Given the description of an element on the screen output the (x, y) to click on. 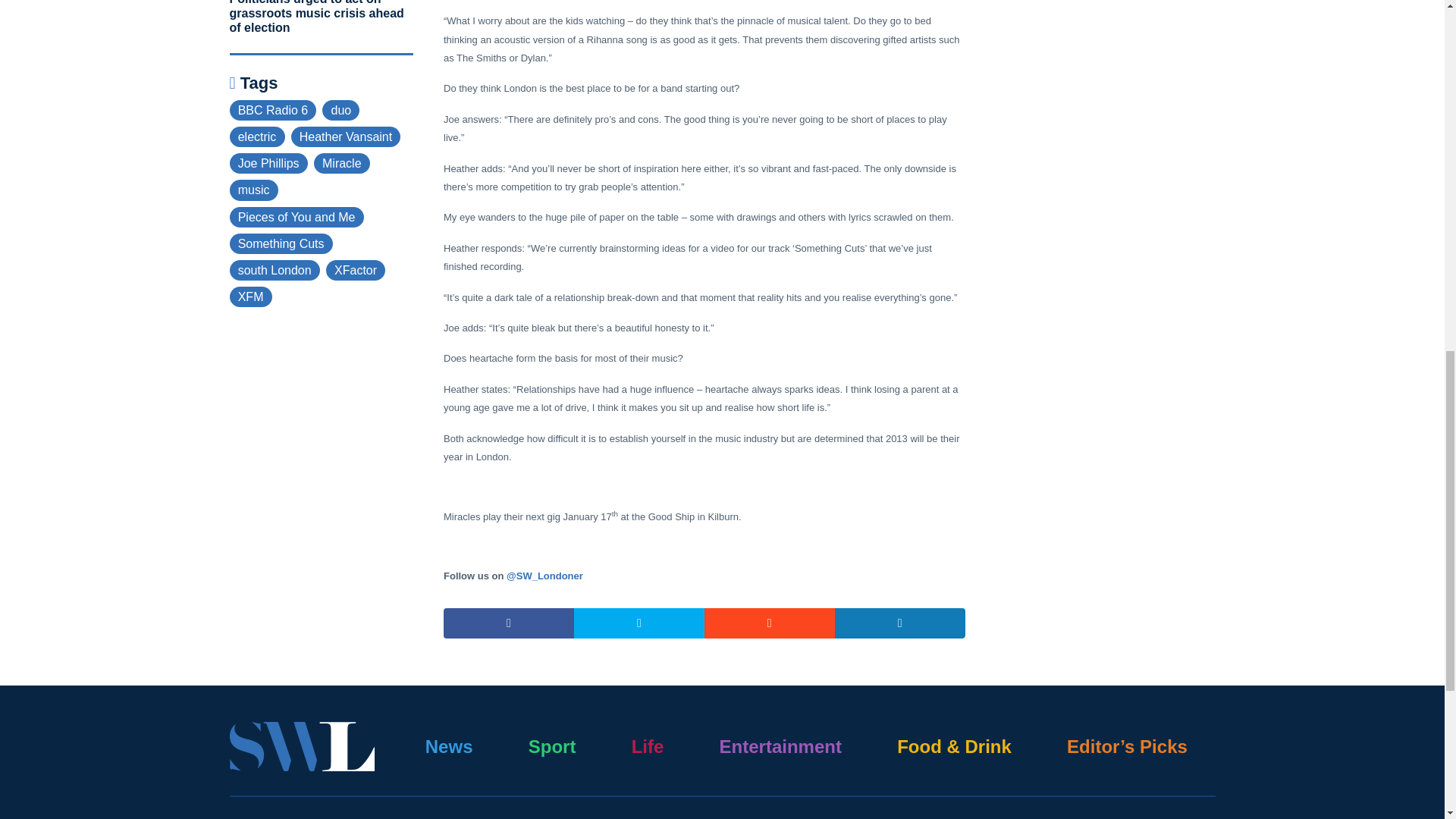
electric (255, 136)
Joe Phillips (267, 163)
music (253, 189)
Miracle (341, 163)
duo (340, 109)
Heather Vansaint (346, 136)
BBC Radio 6 (271, 109)
